Given the description of an element on the screen output the (x, y) to click on. 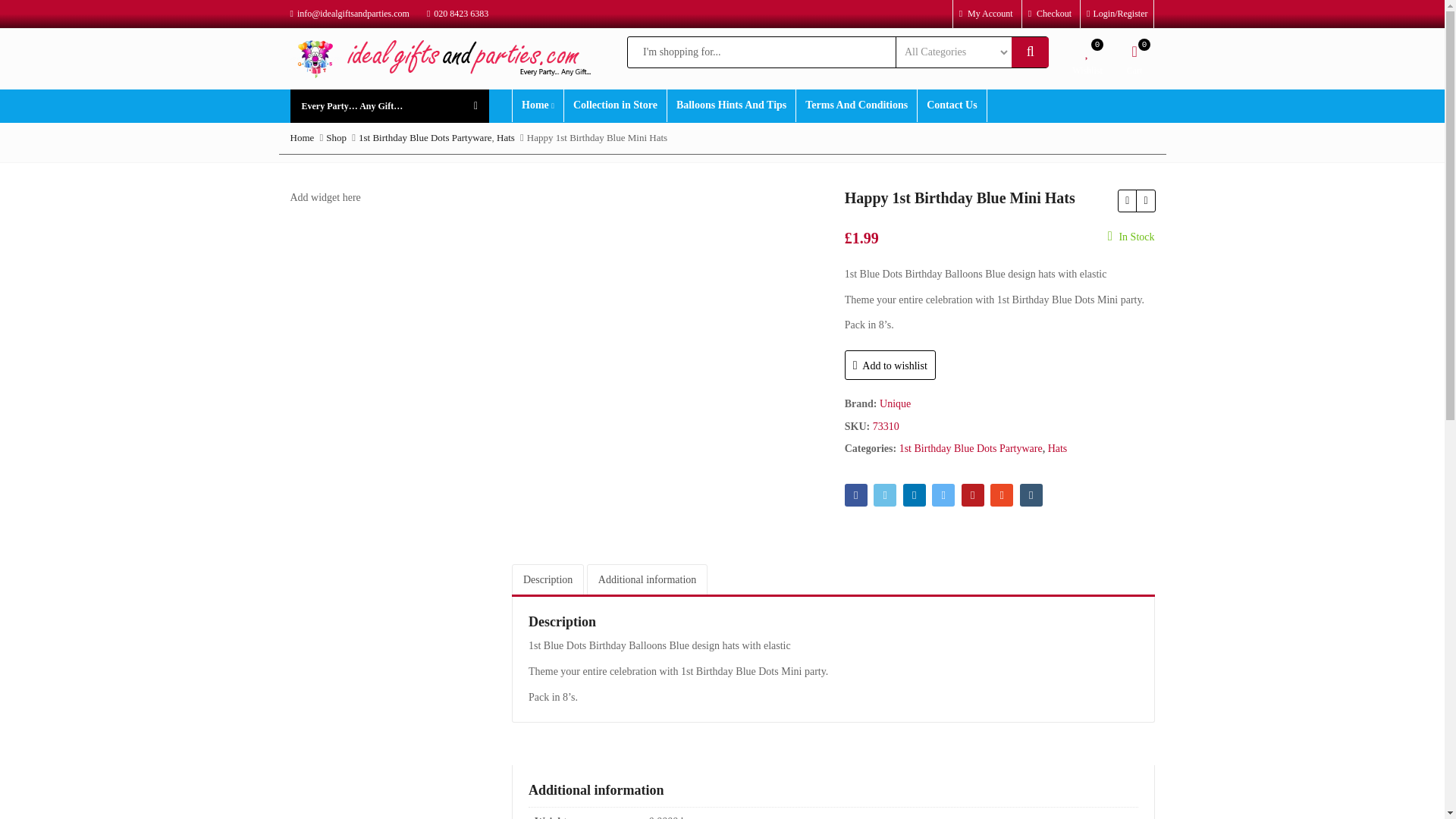
Share on Facebook (855, 495)
My Account (986, 13)
Checkout (1049, 13)
Share on Stumbleupon (1001, 495)
Share on Tumblr (1031, 495)
Share on Twitter (884, 495)
Go to Home Page (301, 137)
Share on LinkedIn (914, 495)
Share on Telegram (943, 495)
Share on Pinterest (972, 495)
